Given the description of an element on the screen output the (x, y) to click on. 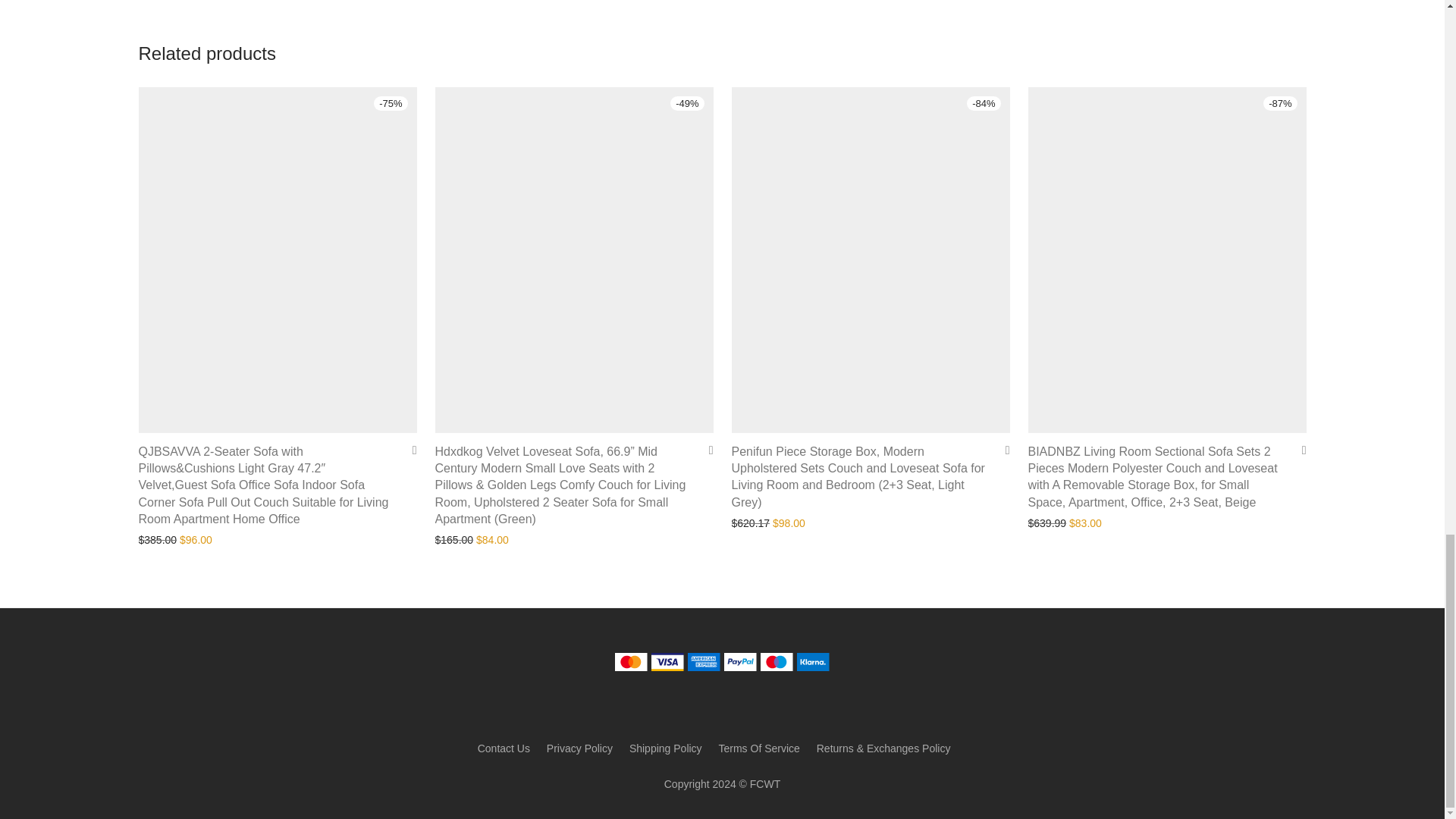
Add to Wishlist (408, 449)
Add to Wishlist (1001, 449)
Add to Wishlist (705, 449)
